Given the description of an element on the screen output the (x, y) to click on. 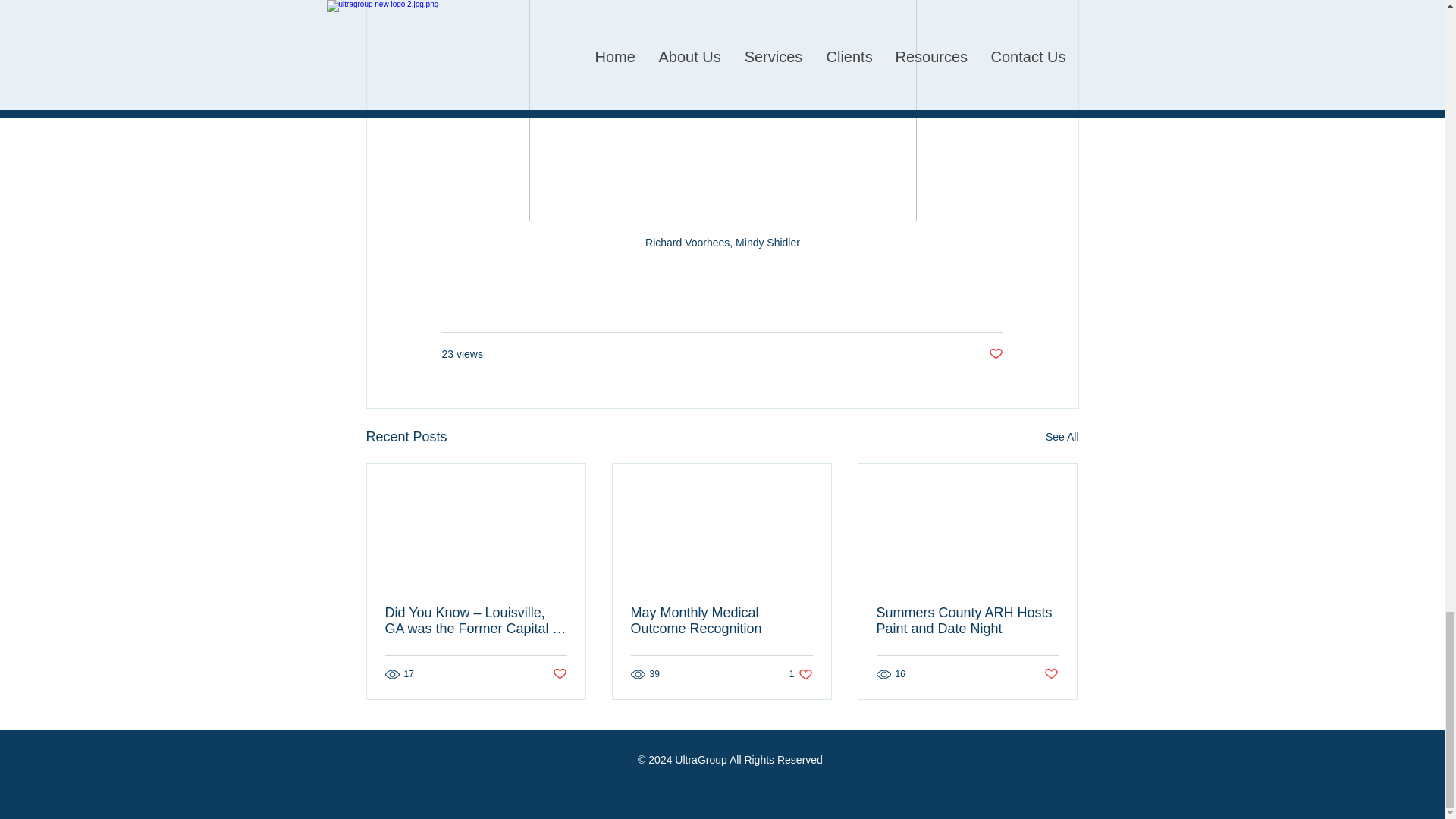
May Monthly Medical Outcome Recognition (800, 674)
Post not marked as liked (721, 621)
Post not marked as liked (558, 674)
See All (995, 354)
Post not marked as liked (1061, 436)
Summers County ARH Hosts Paint and Date Night (1050, 674)
